Given the description of an element on the screen output the (x, y) to click on. 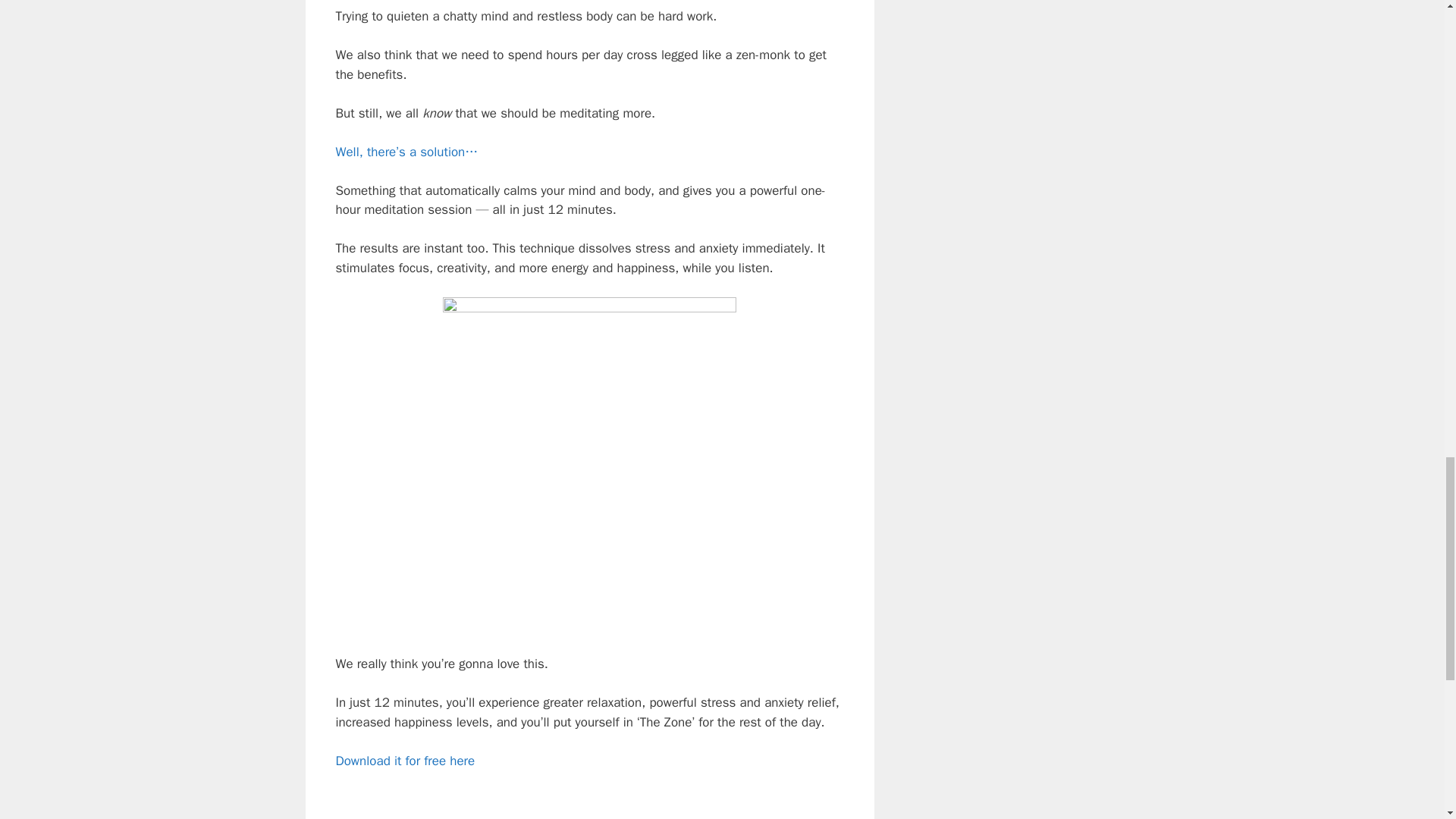
Download it for free here (404, 760)
